Given the description of an element on the screen output the (x, y) to click on. 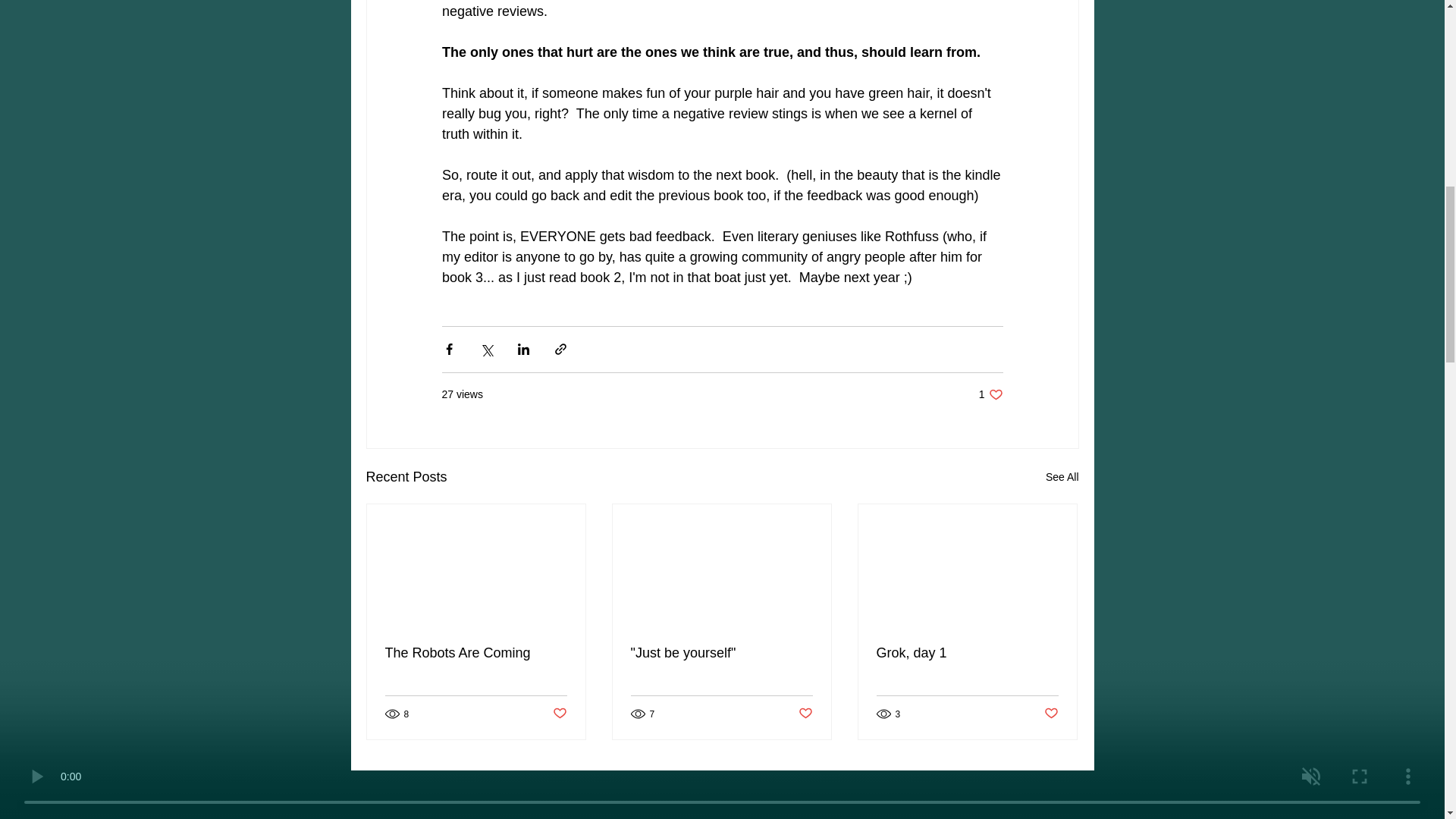
Grok, day 1 (967, 652)
Post not marked as liked (1050, 713)
"Just be yourself" (990, 394)
Post not marked as liked (721, 652)
The Robots Are Coming (804, 713)
See All (476, 652)
Post not marked as liked (1061, 477)
